Given the description of an element on the screen output the (x, y) to click on. 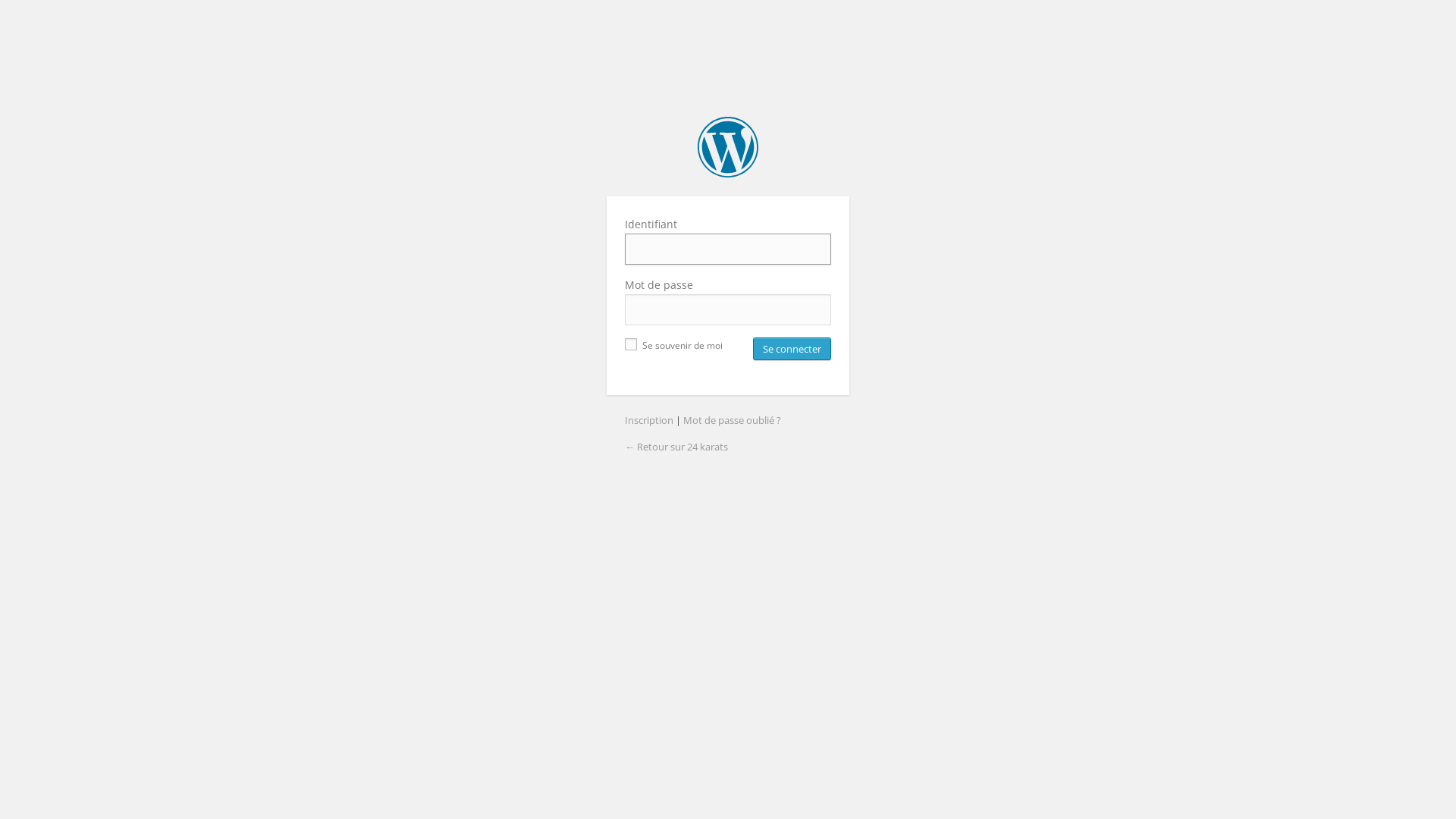
24 karats Element type: text (727, 146)
Se connecter Element type: text (792, 348)
Inscription Element type: text (648, 419)
